Given the description of an element on the screen output the (x, y) to click on. 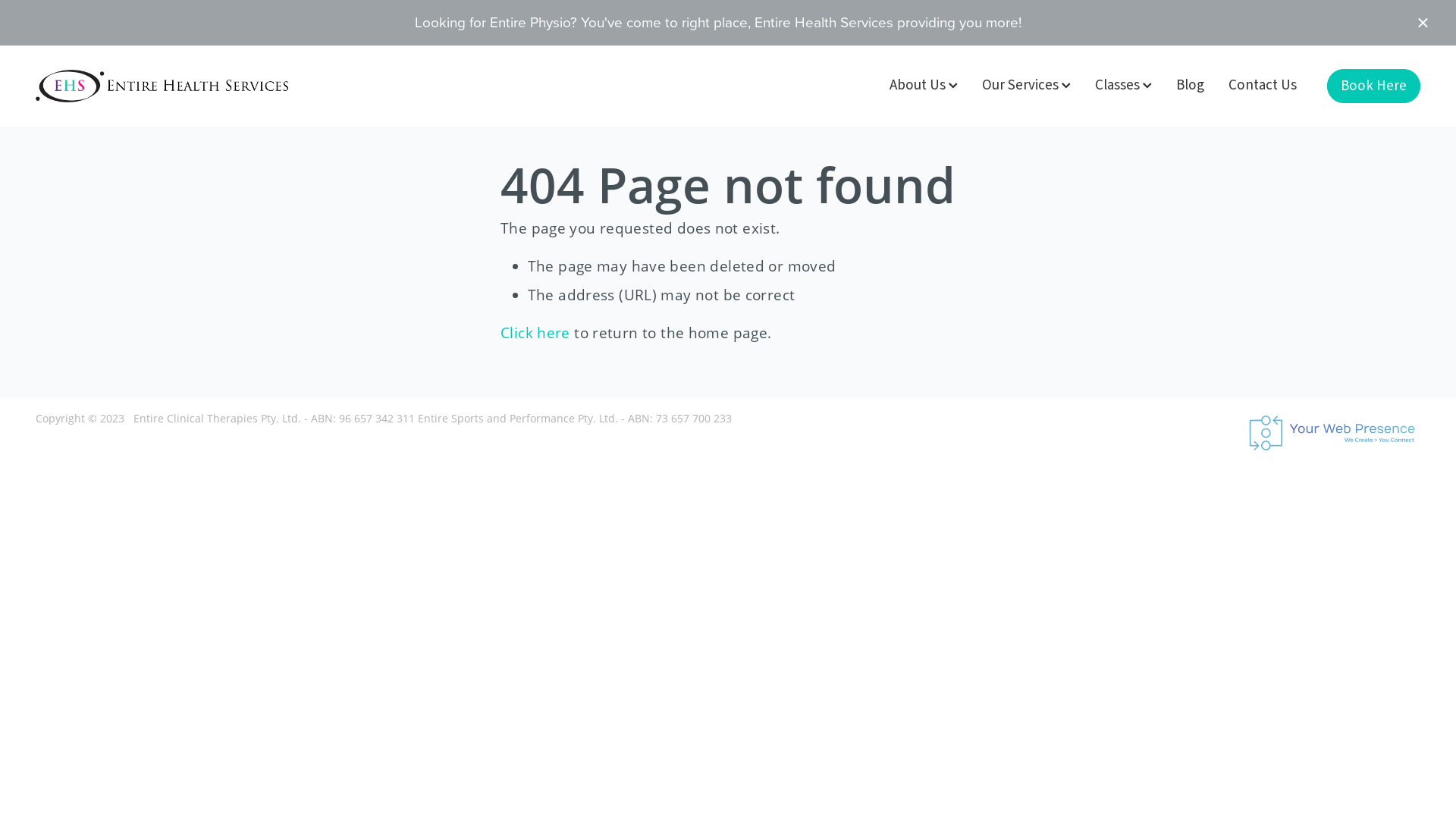
Our Services Element type: text (1026, 85)
Click here Element type: text (535, 332)
96 657 342 311 Element type: text (376, 418)
Classes Element type: text (1123, 85)
Book Here Element type: text (1373, 86)
Contact Us Element type: text (1262, 85)
About Us Element type: text (923, 85)
Blog Element type: text (1190, 85)
73 657 700 233 Element type: text (693, 418)
